Given the description of an element on the screen output the (x, y) to click on. 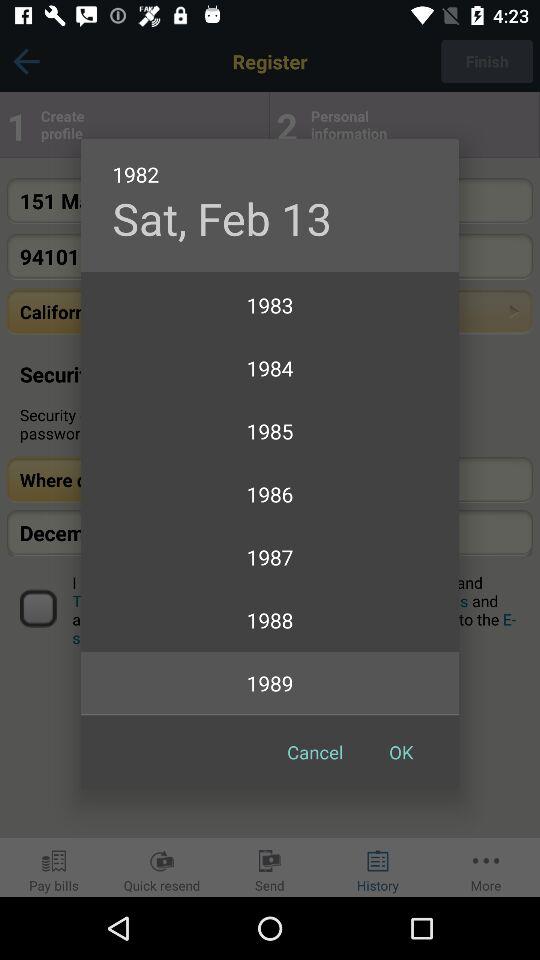
press the ok item (401, 751)
